Given the description of an element on the screen output the (x, y) to click on. 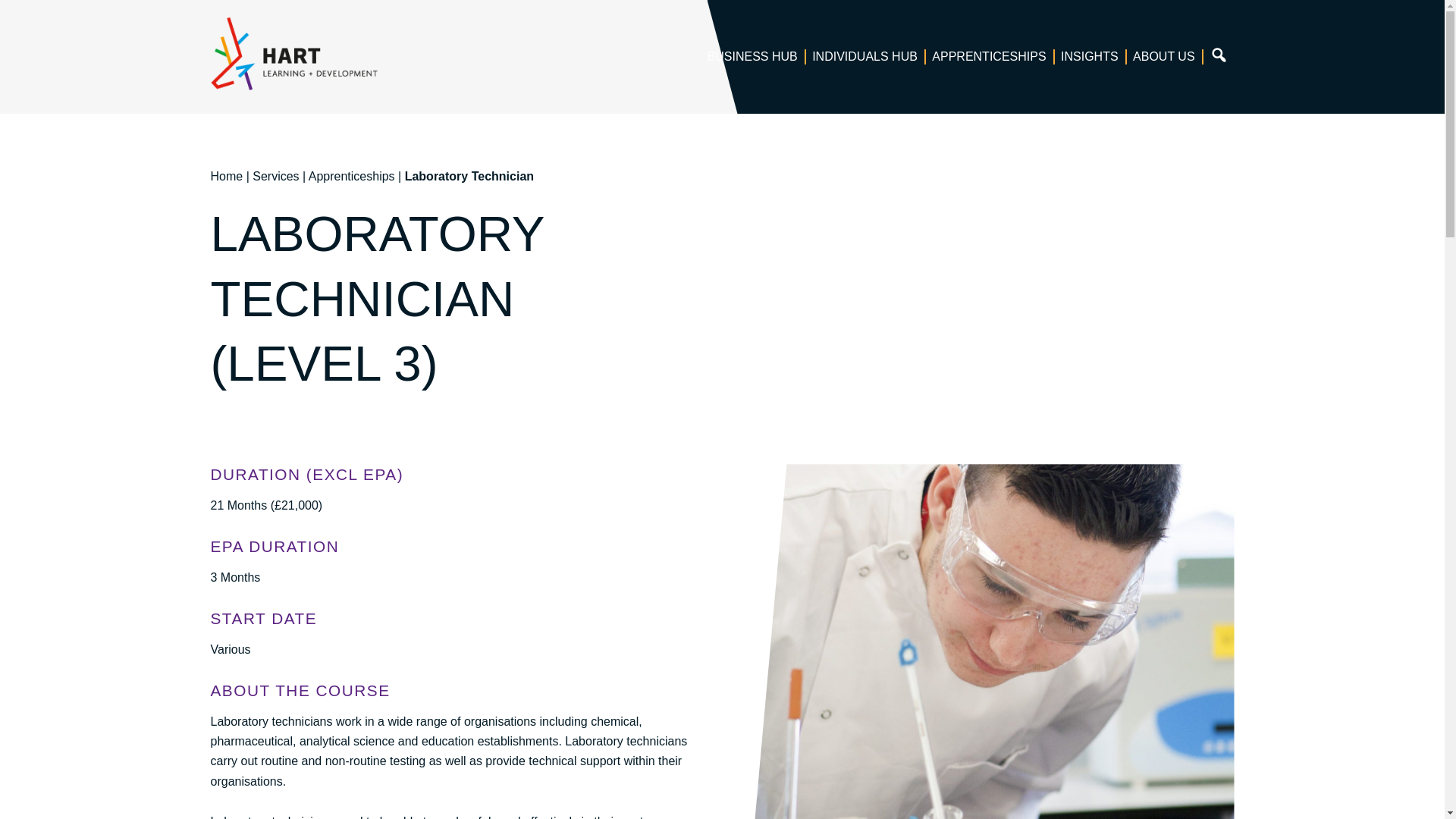
Apprenticeships (351, 175)
BUSINESS HUB (752, 56)
Home (227, 175)
APPRENTICESHIPS (988, 56)
INSIGHTS (1089, 56)
ABOUT US (1163, 56)
INDIVIDUALS HUB (864, 56)
Services (274, 175)
SEARCH (1219, 56)
